Given the description of an element on the screen output the (x, y) to click on. 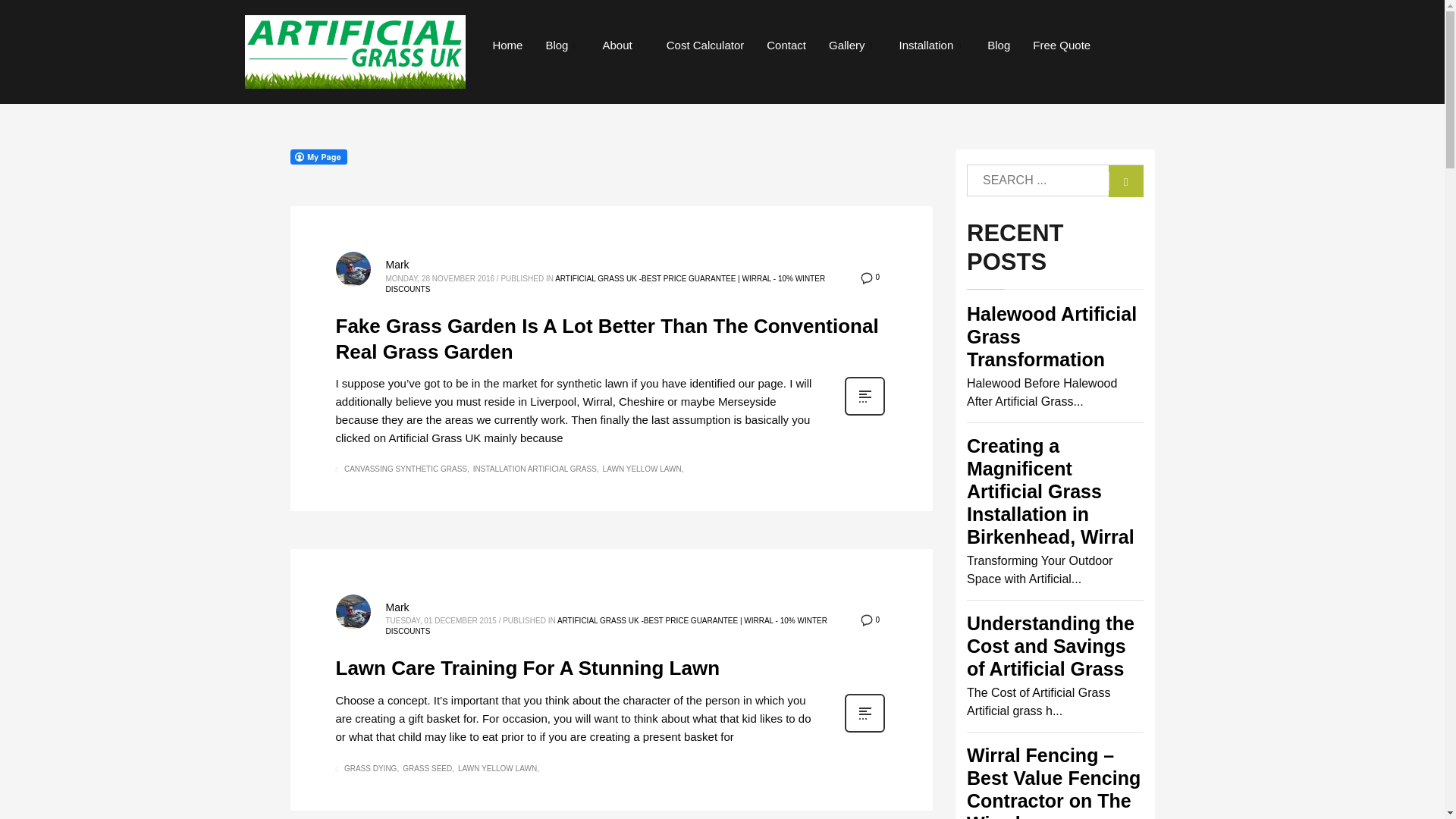
Halewood Artificial Grass Transformation (1051, 336)
Installation (932, 45)
Understanding the Cost and Savings of Artificial Grass (1050, 645)
Contact (785, 45)
Read more (864, 413)
Blog (562, 45)
No Comments (869, 277)
Read more (864, 730)
Gallery (852, 45)
Cost Calculator (705, 45)
Posts by Mark (397, 607)
No Comments (869, 619)
About (623, 45)
Posts by Mark (397, 264)
